Given the description of an element on the screen output the (x, y) to click on. 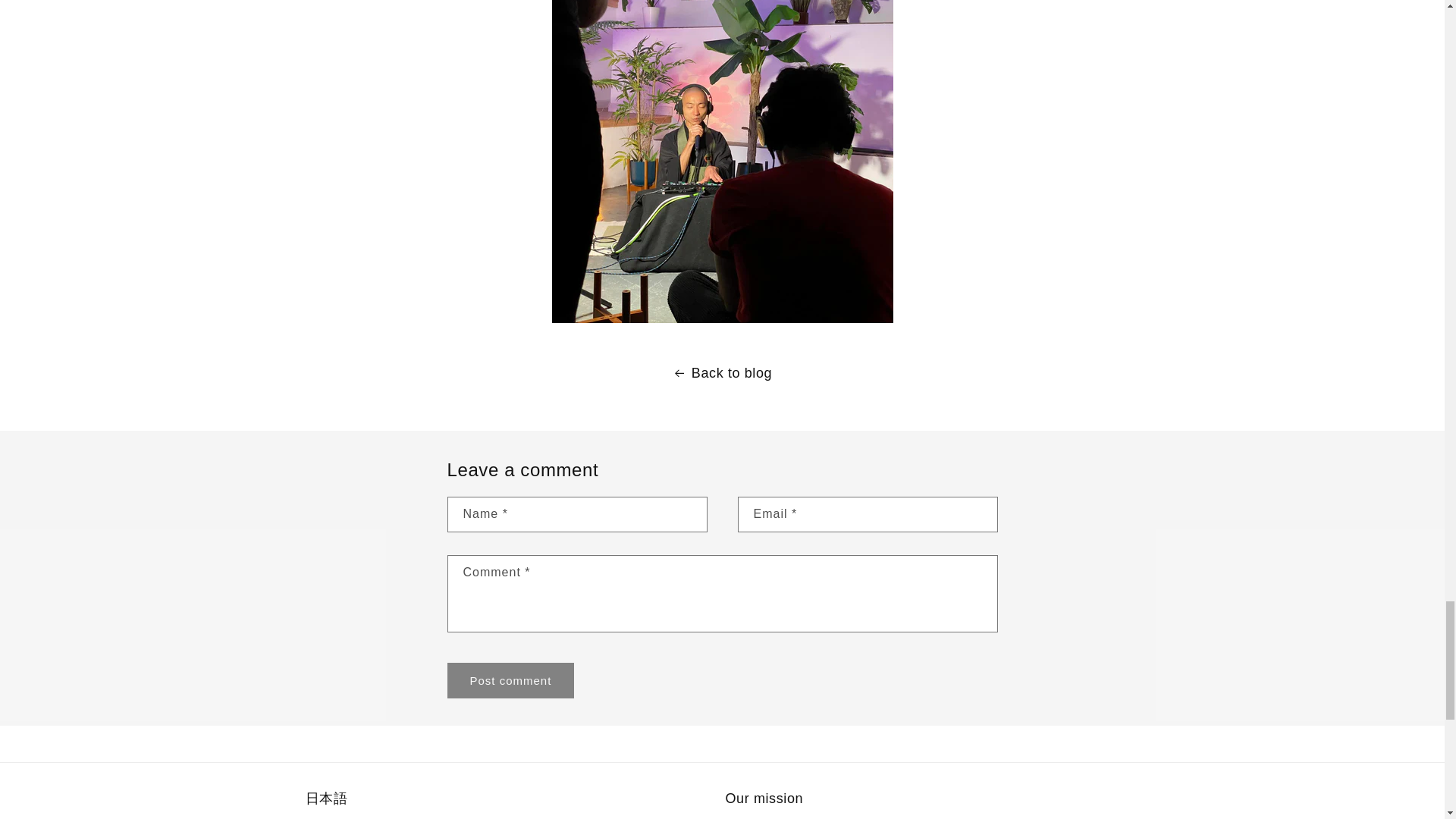
Post comment (510, 680)
Post comment (510, 680)
